Given the description of an element on the screen output the (x, y) to click on. 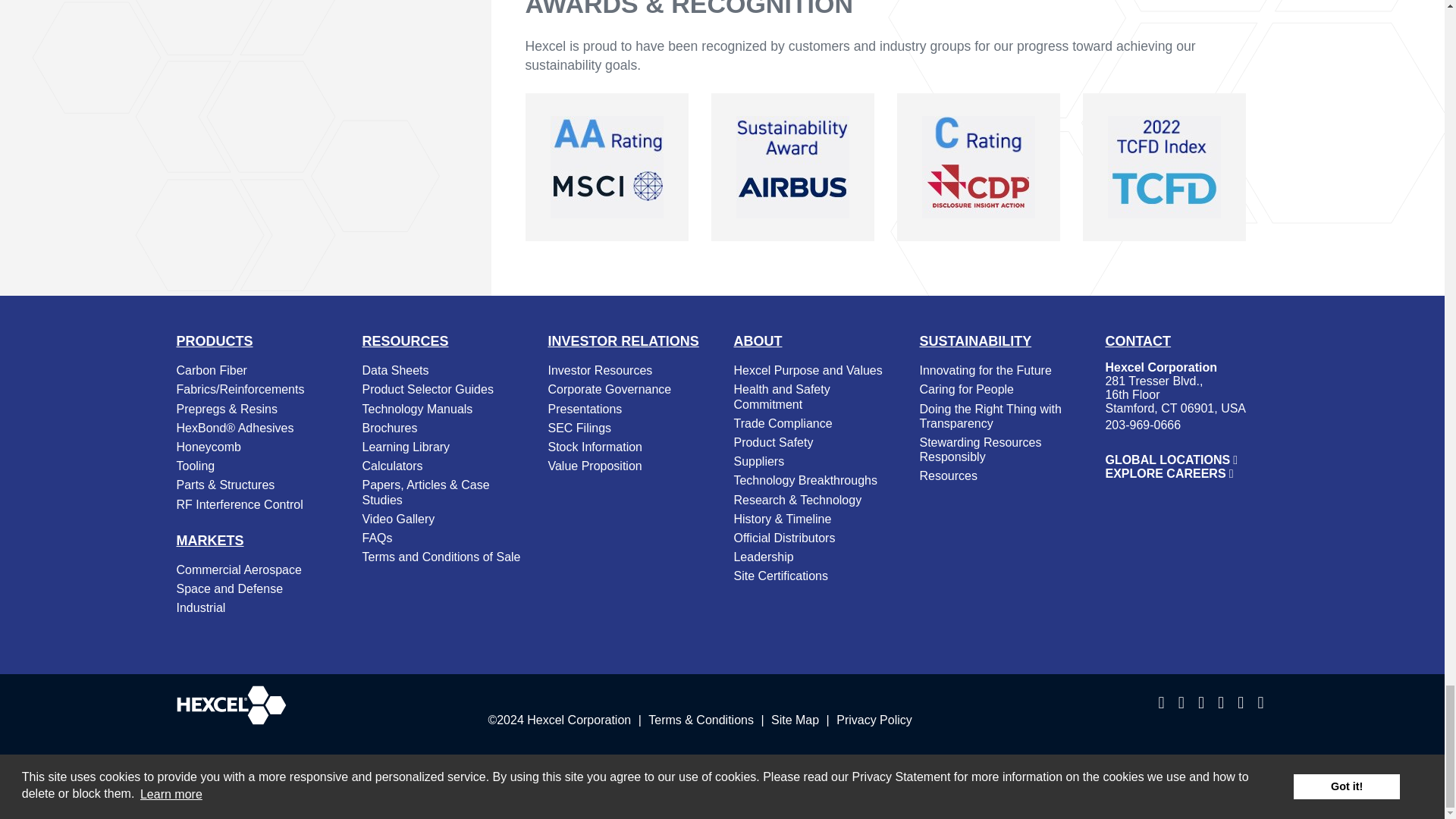
MSCI (606, 167)
